Given the description of an element on the screen output the (x, y) to click on. 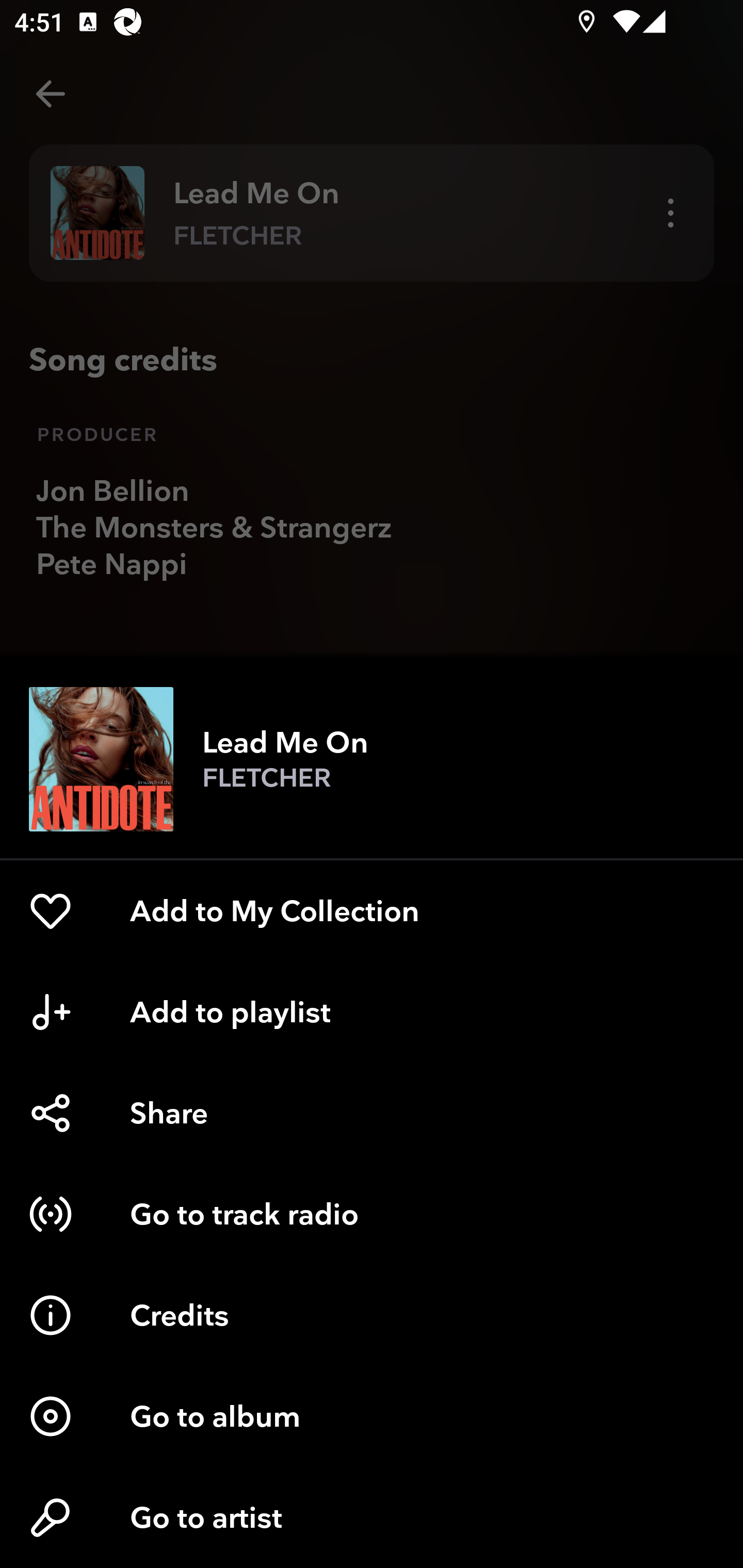
Add to My Collection (371, 910)
Add to playlist (371, 1012)
Share (371, 1113)
Go to track radio (371, 1214)
Credits (371, 1315)
Go to album (371, 1416)
Go to artist (371, 1517)
